Given the description of an element on the screen output the (x, y) to click on. 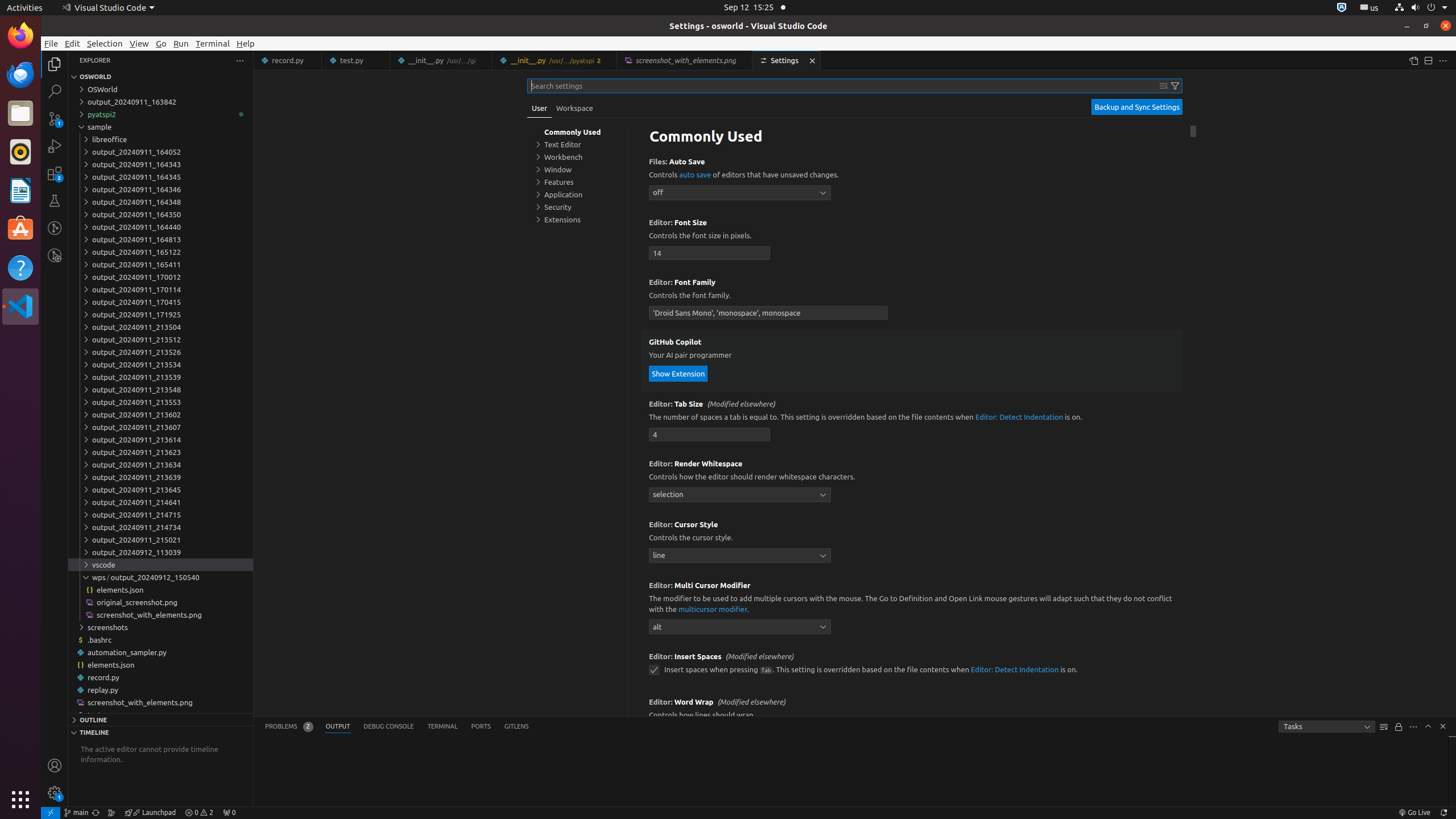
Open Settings (JSON) Element type: push-button (1413, 60)
output_20240911_213526 Element type: tree-item (160, 351)
output_20240911_164348 Element type: tree-item (160, 201)
Workspace Element type: check-box (574, 107)
